Given the description of an element on the screen output the (x, y) to click on. 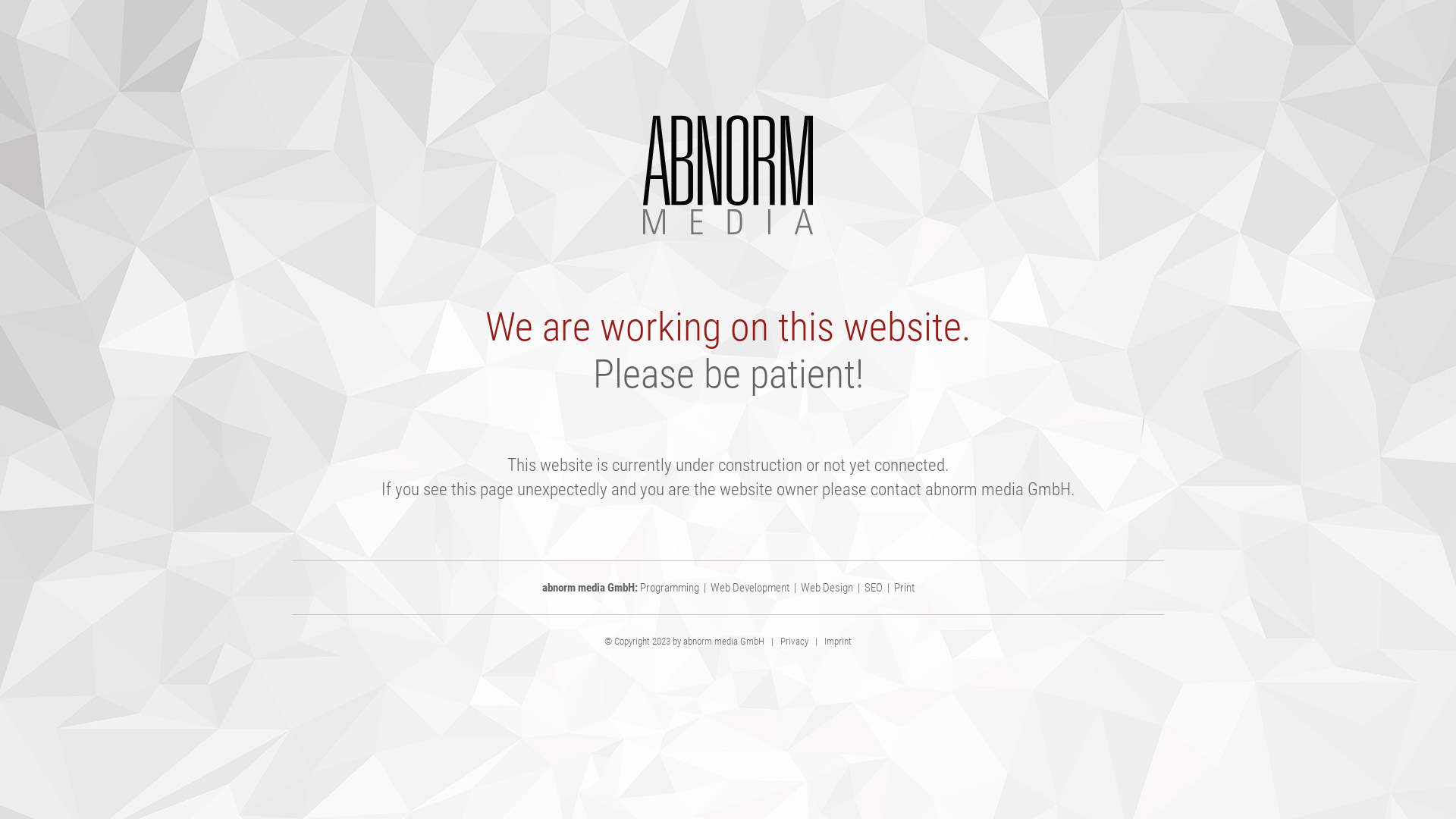
Imprint Element type: text (837, 640)
Privacy Element type: text (794, 640)
